Given the description of an element on the screen output the (x, y) to click on. 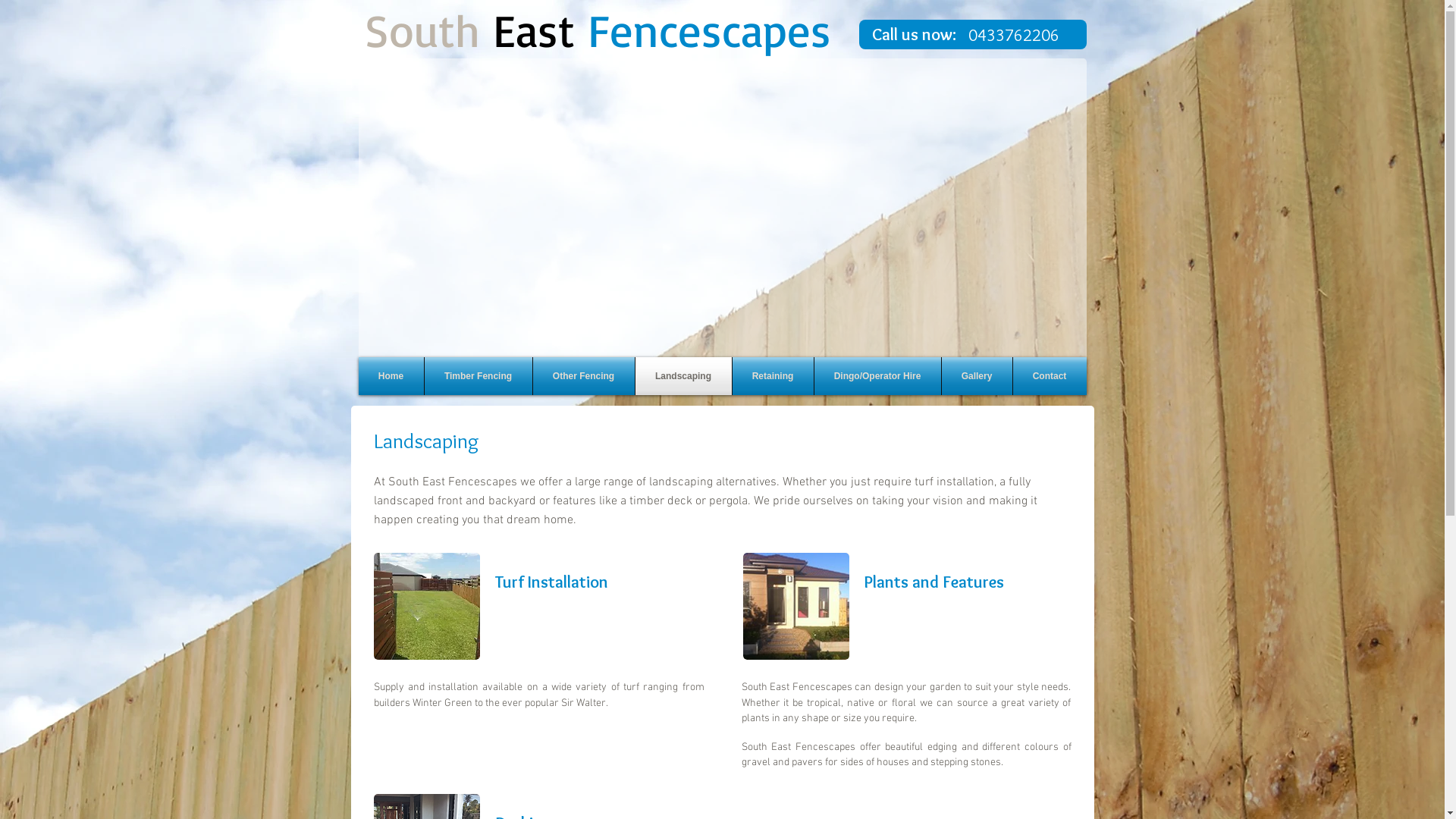
20121031_114037.jpg Element type: hover (426, 605)
Home Element type: text (390, 376)
Gardens_edited.jpg Element type: hover (796, 605)
Other Fencing Element type: text (582, 376)
Landscaping Element type: text (683, 376)
Dingo/Operator Hire Element type: text (877, 376)
Timber Fencing Element type: text (478, 376)
Gallery Element type: text (976, 376)
Retaining Element type: text (772, 376)
Contact Element type: text (1049, 376)
